Given the description of an element on the screen output the (x, y) to click on. 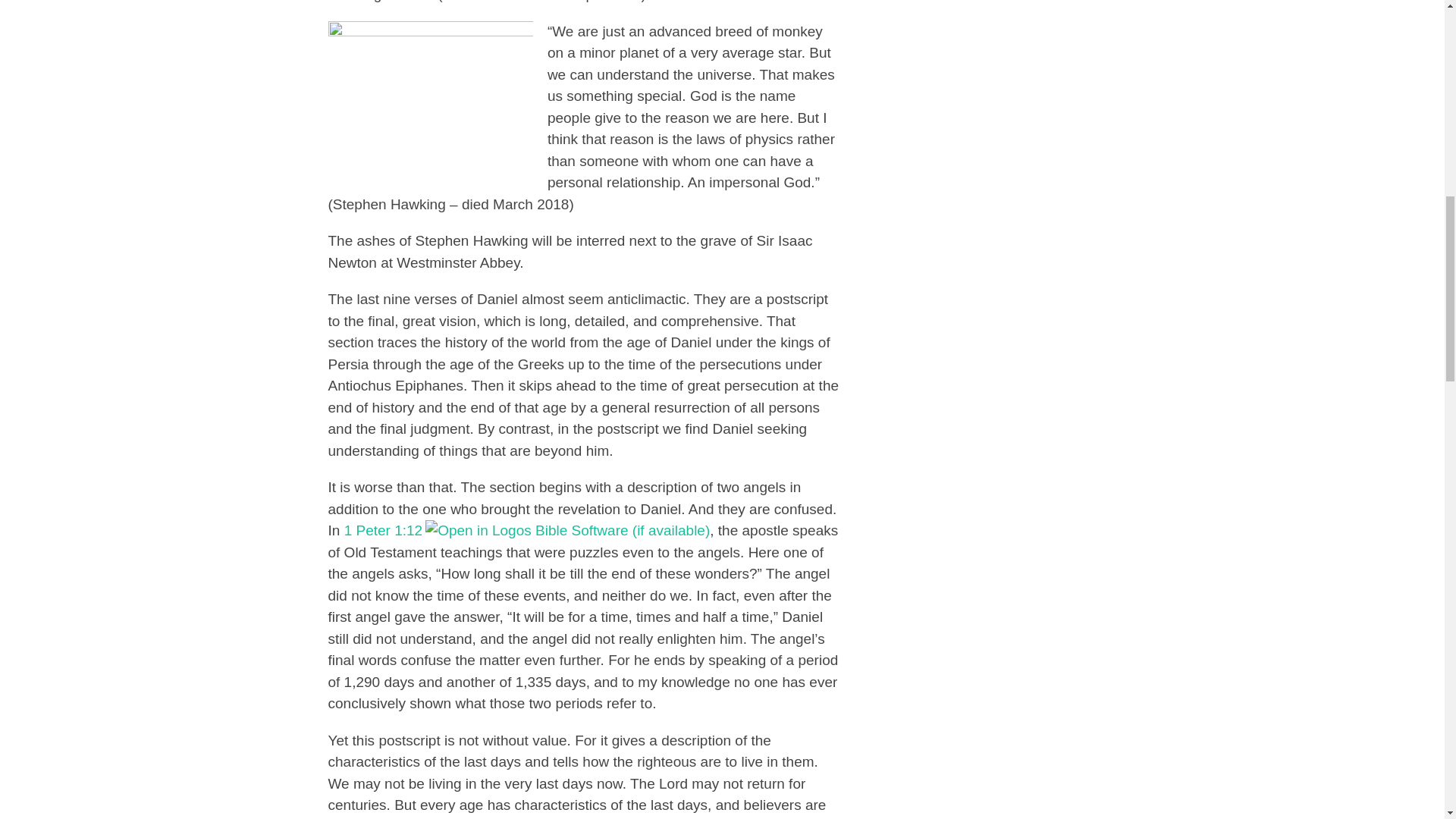
1 Peter 1:12 (383, 530)
